Given the description of an element on the screen output the (x, y) to click on. 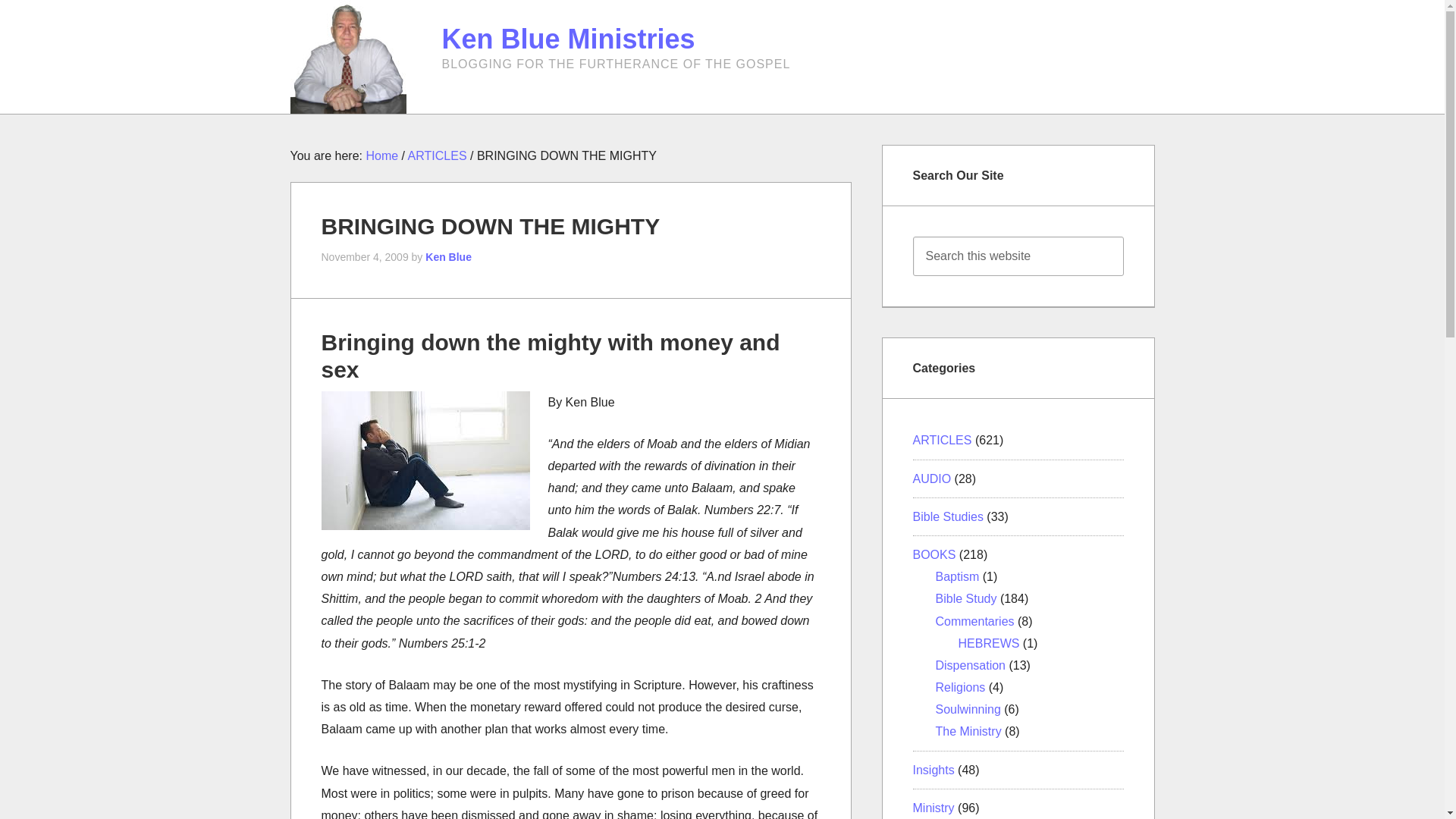
ARTICLES (942, 440)
HEBREWS (989, 643)
BOOKS (934, 554)
Bible Studies (948, 516)
Ken Blue Ministries (567, 38)
AUDIO (932, 478)
Baptism (957, 576)
Ministry (933, 807)
Dispensation (971, 665)
Commentaries (975, 620)
Home (381, 155)
Religions (960, 686)
Insights (933, 769)
